Given the description of an element on the screen output the (x, y) to click on. 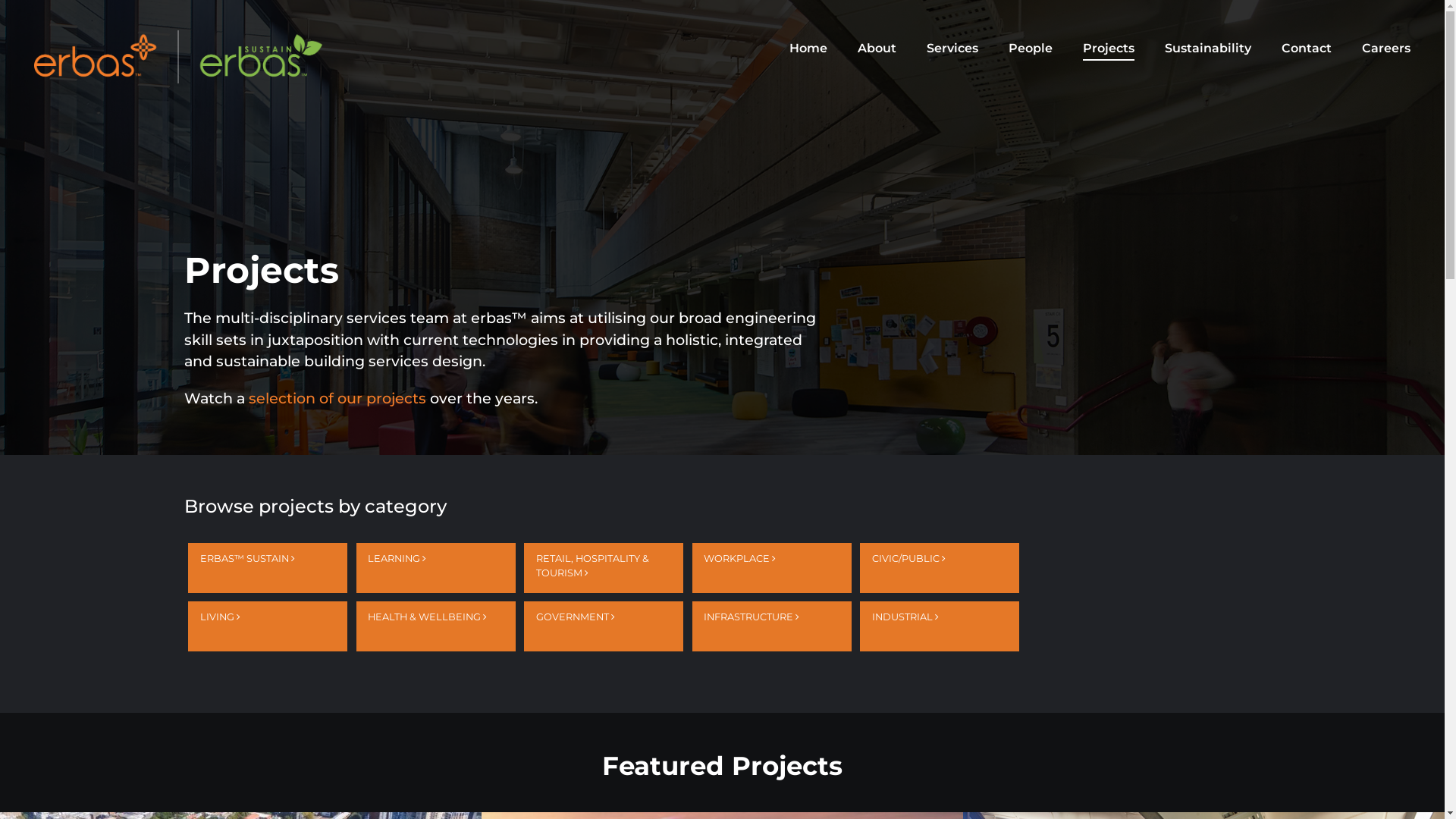
CIVIC/PUBLIC  Element type: text (939, 567)
People Element type: text (1030, 48)
INDUSTRIAL  Element type: text (939, 626)
selection of our projects Element type: text (337, 398)
RETAIL, HOSPITALITY & TOURISM  Element type: text (603, 567)
Careers Element type: text (1385, 48)
HEALTH & WELLBEING  Element type: text (435, 626)
INFRASTRUCTURE  Element type: text (771, 626)
LIVING  Element type: text (267, 626)
About Element type: text (876, 48)
GOVERNMENT  Element type: text (603, 626)
WORKPLACE  Element type: text (771, 567)
Projects Element type: text (1108, 48)
Contact Element type: text (1306, 48)
LEARNING  Element type: text (435, 567)
Home Element type: text (808, 48)
Sustainability Element type: text (1207, 48)
Services Element type: text (952, 48)
